Given the description of an element on the screen output the (x, y) to click on. 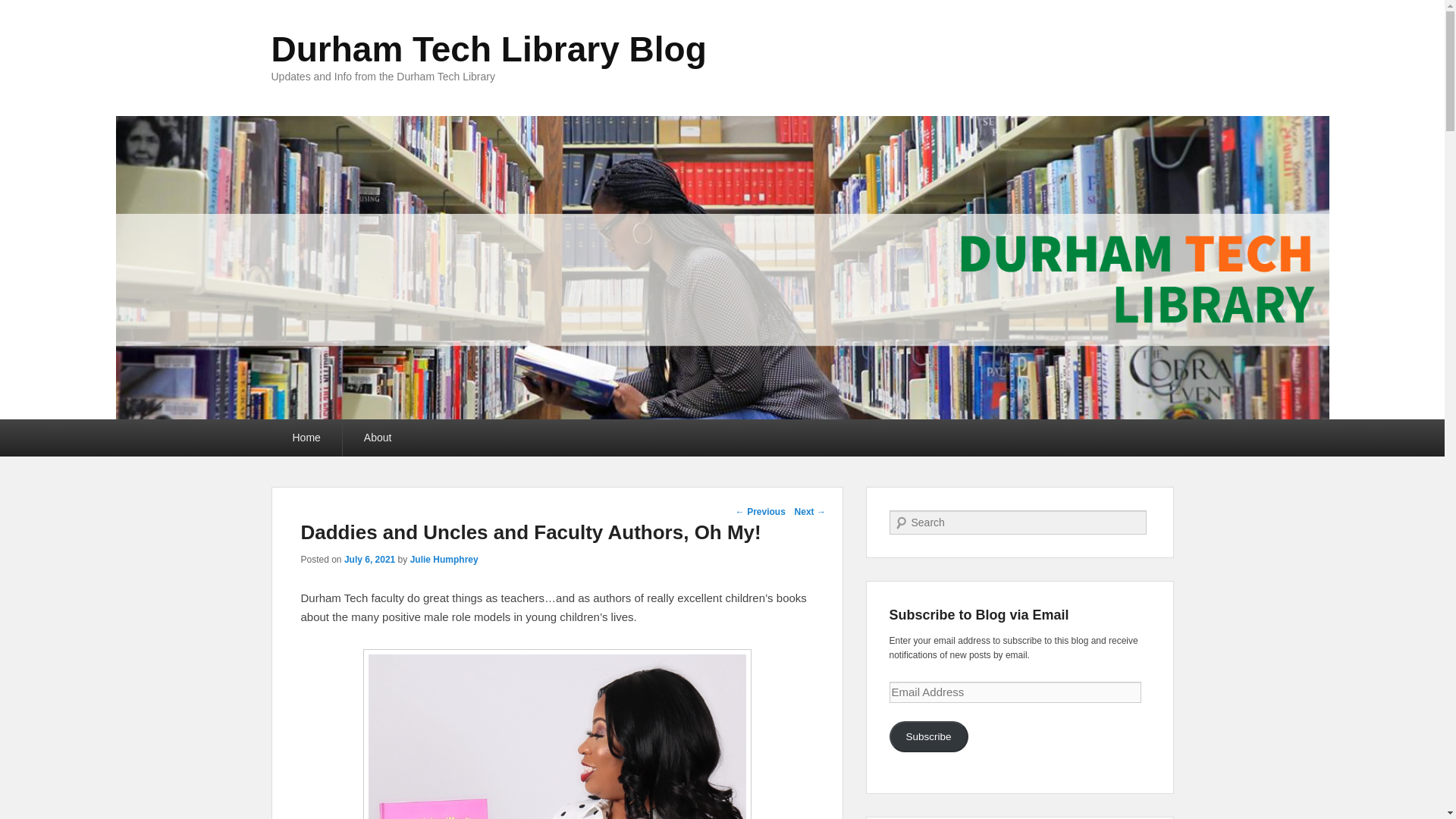
View all posts by Julie Humphrey (444, 559)
Search (21, 11)
About (377, 437)
3:35 pm (368, 559)
Skip to primary content (58, 428)
July 6, 2021 (368, 559)
Durham Tech Library Blog (488, 48)
Skip to secondary content (65, 428)
Home (306, 437)
Durham Tech Library Blog (488, 48)
Skip to primary content (58, 428)
Julie Humphrey (444, 559)
Skip to secondary content (65, 428)
Subscribe (928, 736)
